Given the description of an element on the screen output the (x, y) to click on. 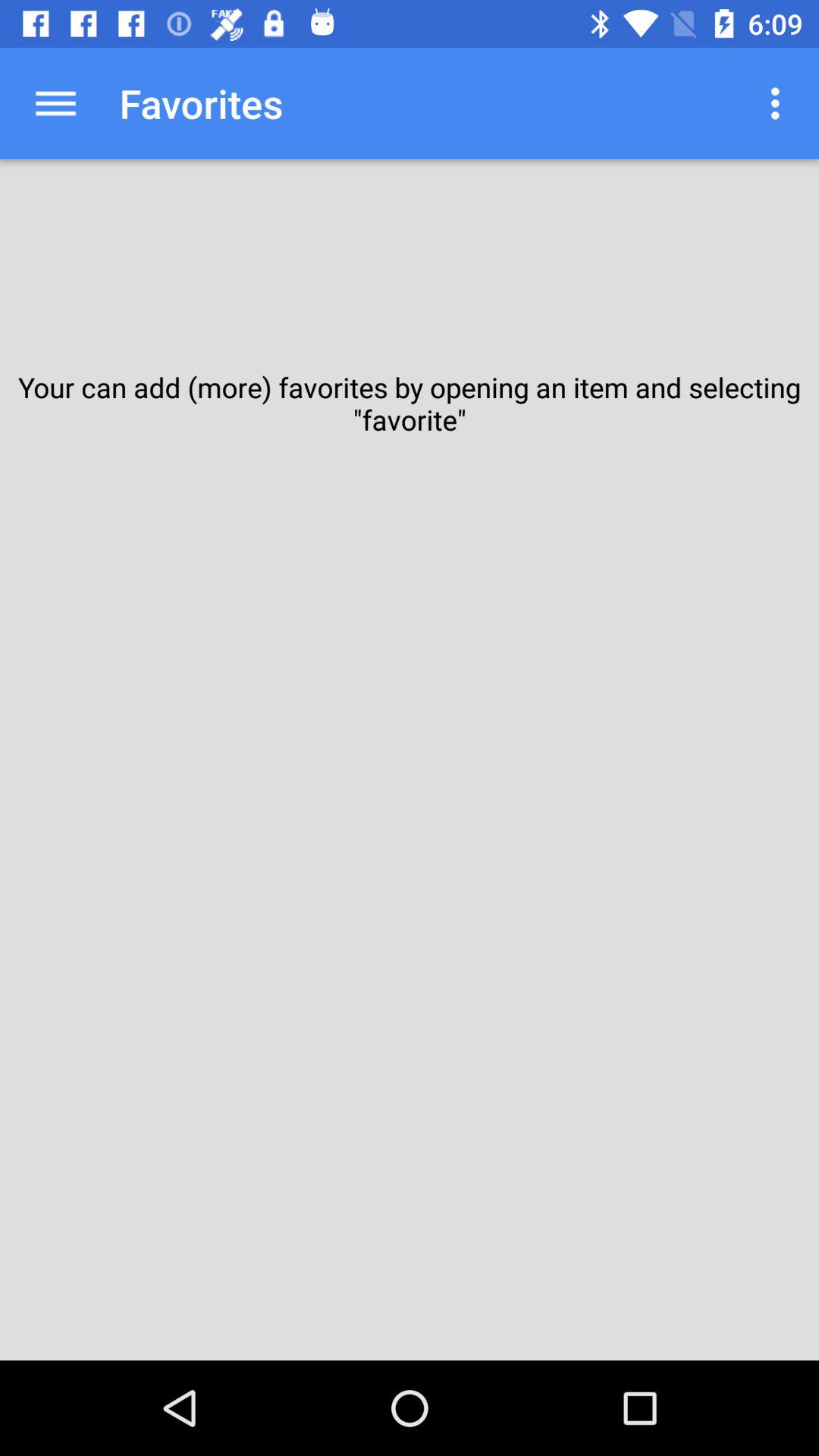
turn off the item to the right of the favorites app (779, 103)
